Given the description of an element on the screen output the (x, y) to click on. 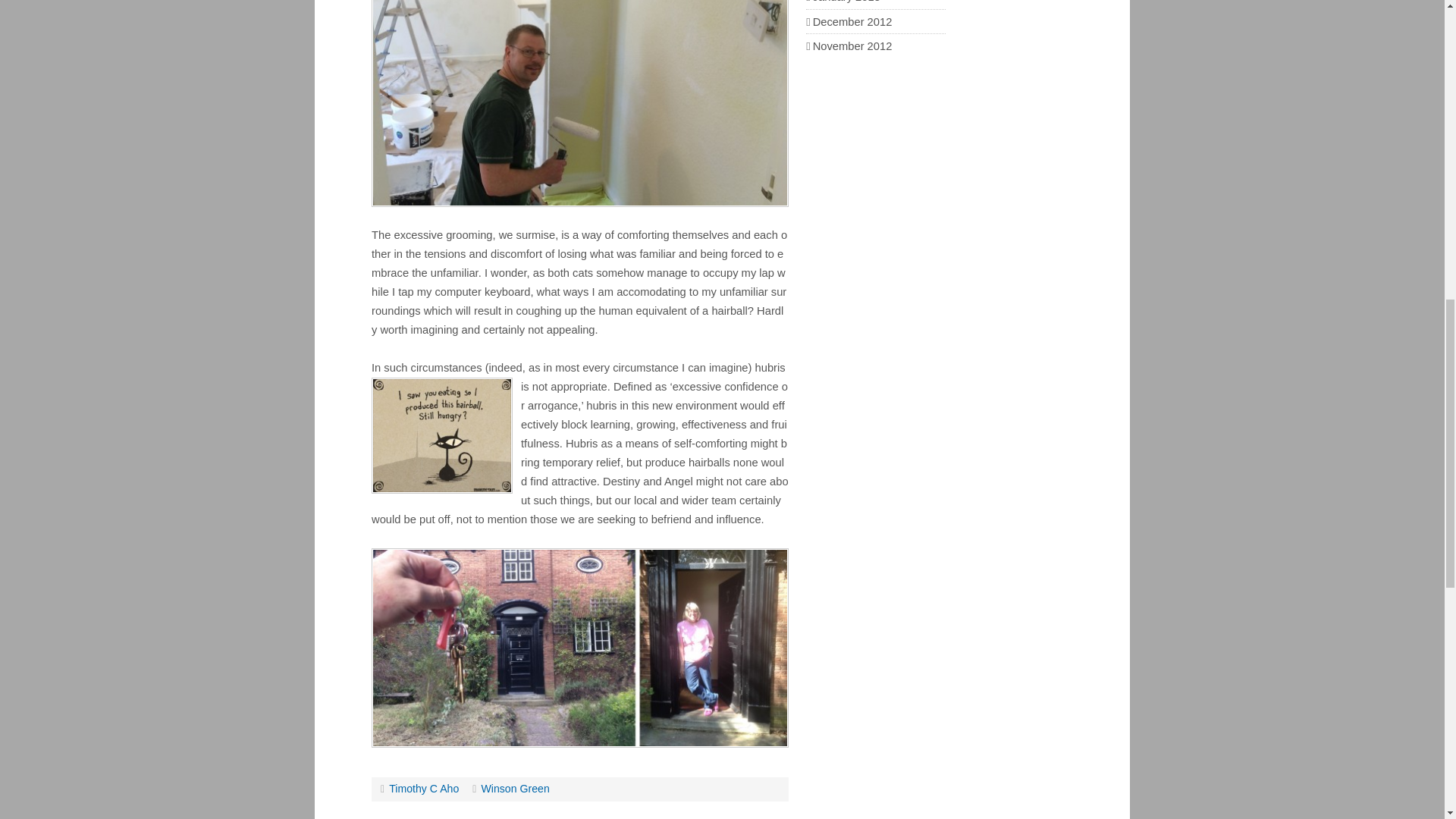
January 2013 (846, 1)
November 2012 (852, 46)
Timothy C Aho (423, 788)
Winson Green (514, 788)
December 2012 (852, 21)
